Given the description of an element on the screen output the (x, y) to click on. 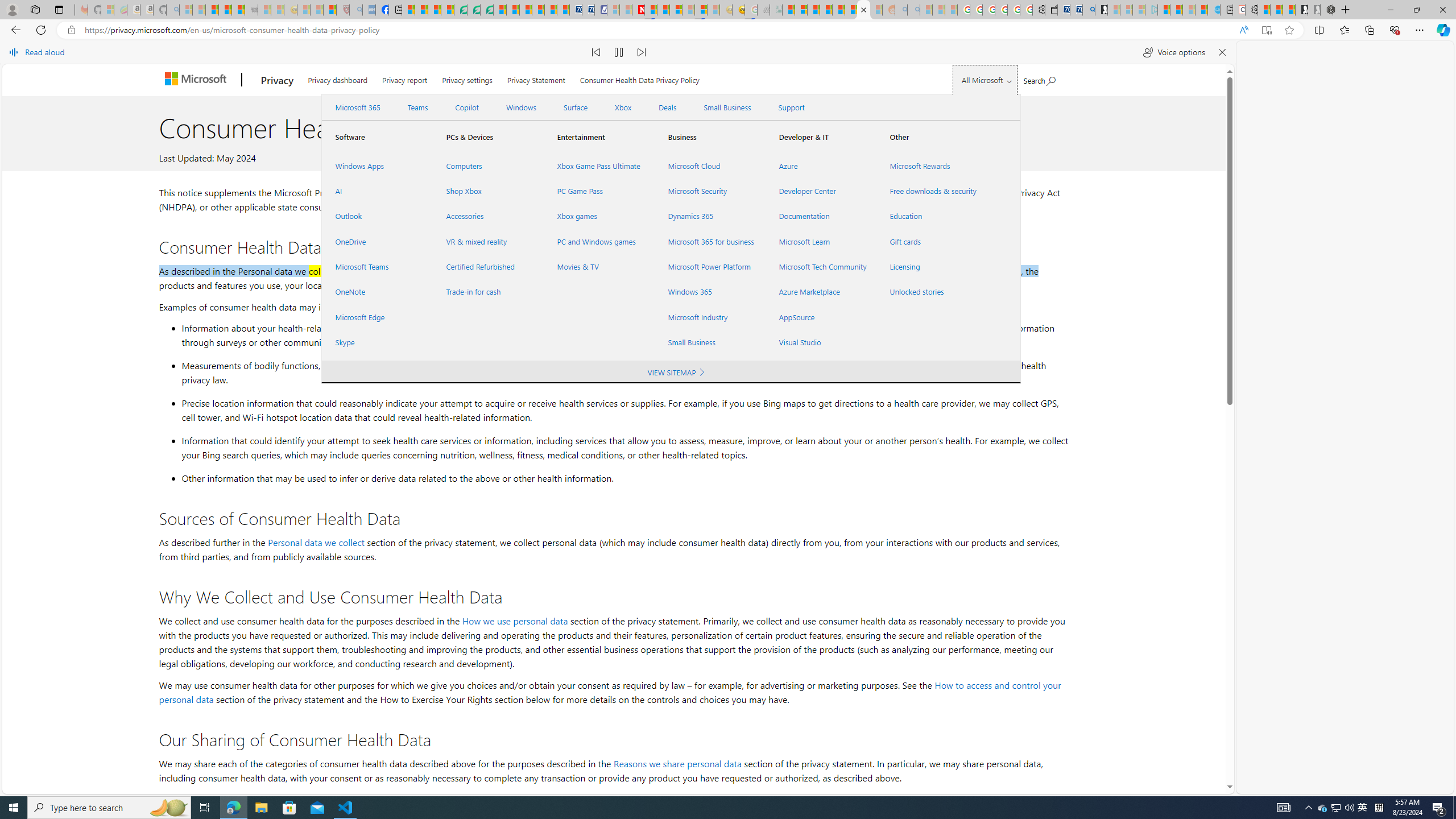
Combat Siege (251, 9)
Skype (376, 342)
Teams (417, 107)
Kinda Frugal - MSN (850, 9)
VR & mixed reality (487, 240)
Computers (487, 165)
Education (931, 216)
